Given the description of an element on the screen output the (x, y) to click on. 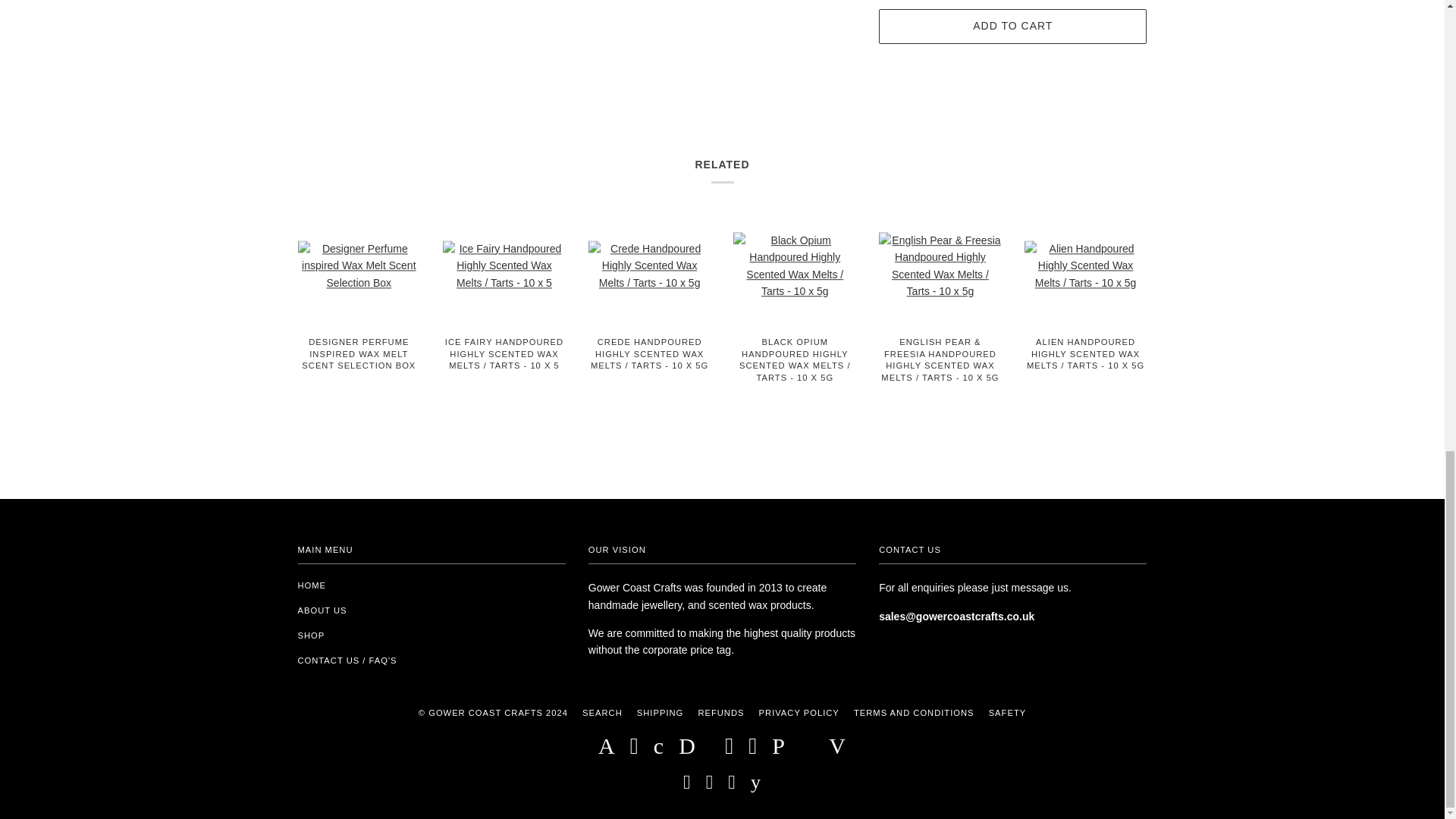
Gower Coast Crafts on Pinterest (732, 785)
Gower Coast Crafts on Youtube (756, 785)
Gower Coast Crafts on Facebook (686, 785)
Gower Coast Crafts on Instagram (710, 785)
